Given the description of an element on the screen output the (x, y) to click on. 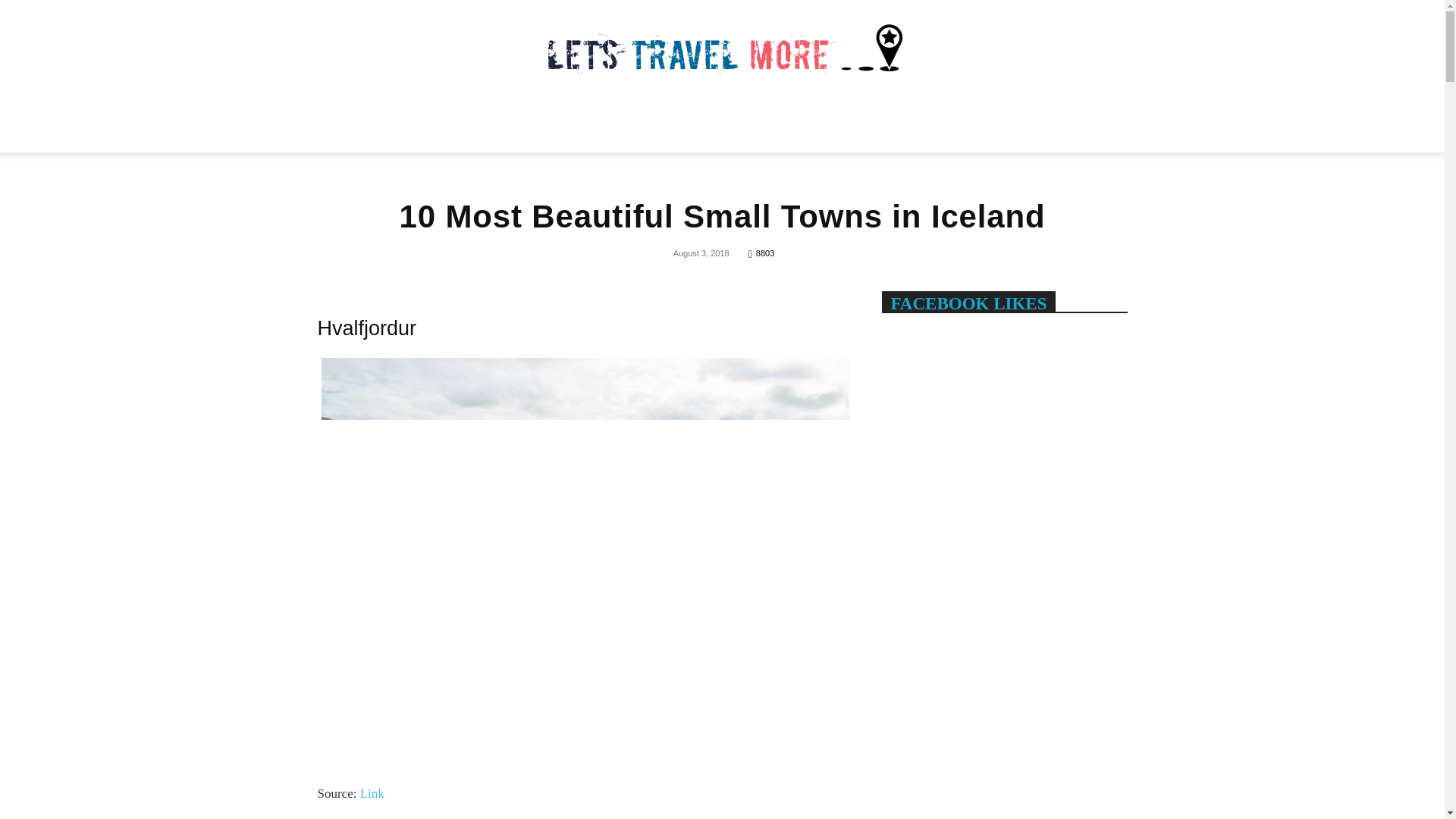
MUST SEE (570, 125)
Lets Travel More (722, 50)
DESTINATIONS (830, 125)
BEST OF THE BEST (689, 125)
START HERE (406, 125)
TOP 10 (492, 125)
